Given the description of an element on the screen output the (x, y) to click on. 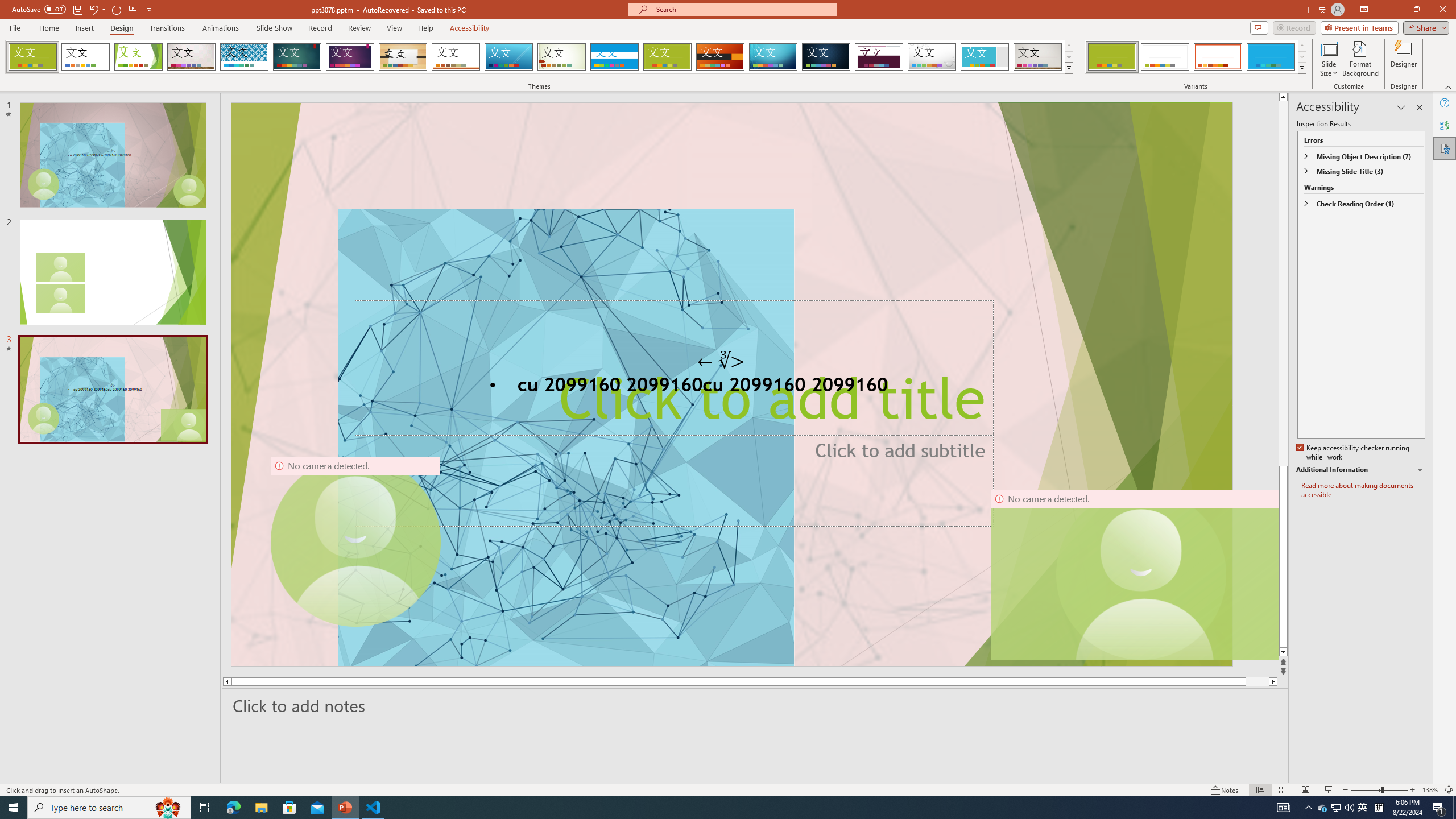
AutomationID: SlideThemesGallery (539, 56)
Variants (1301, 67)
Title TextBox (731, 295)
Wisp (561, 56)
Integral (244, 56)
AutomationID: ThemeVariantsGallery (1195, 56)
